Given the description of an element on the screen output the (x, y) to click on. 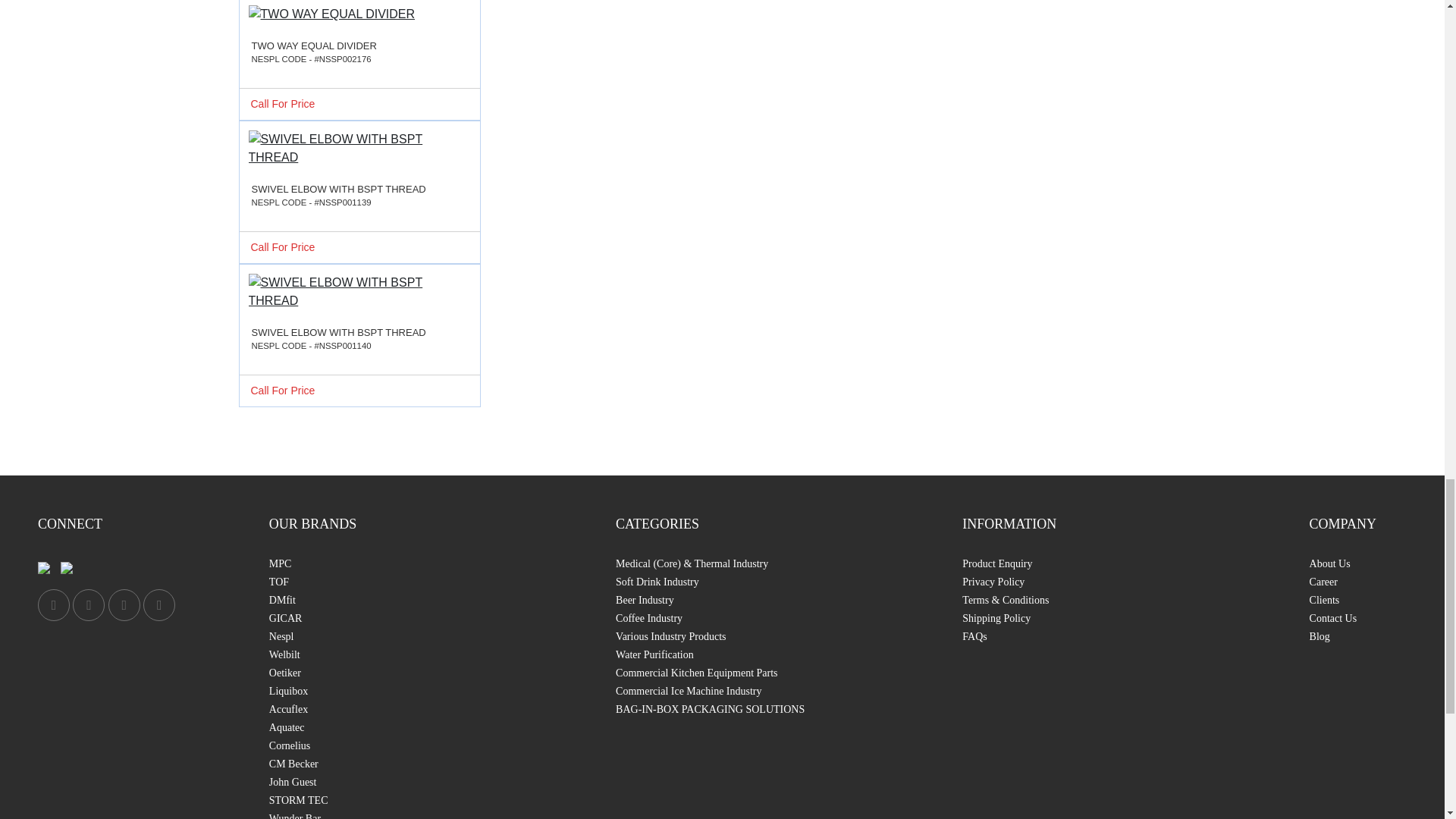
 TWO WAY EQUAL DIVIDER  (360, 16)
 SWIVEL ELBOW WITH BSPT THREAD  (360, 291)
Twitter (88, 604)
Facebook (53, 604)
 SWIVEL ELBOW WITH BSPT THREAD  (360, 148)
